Given the description of an element on the screen output the (x, y) to click on. 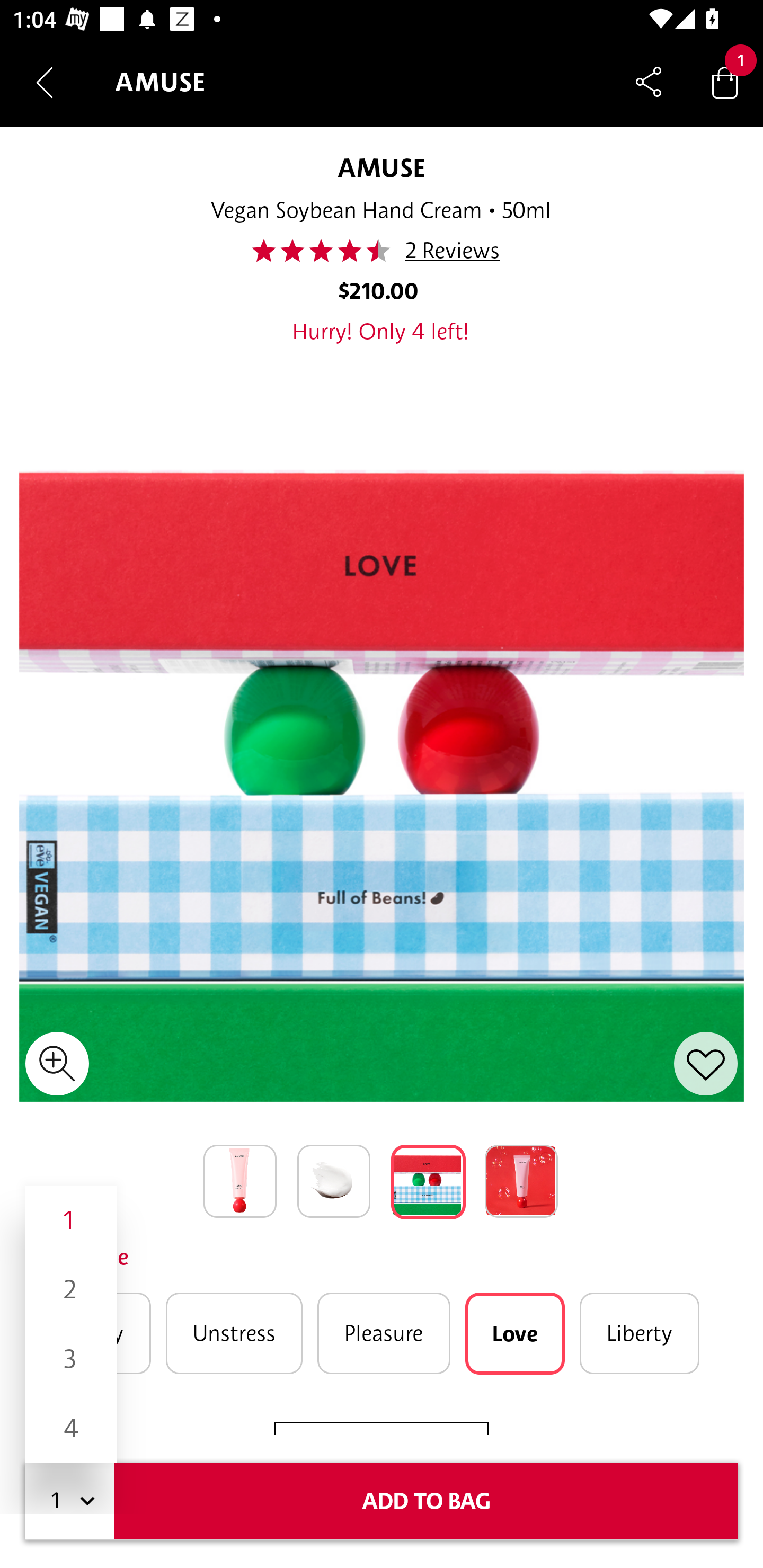
1 (70, 1219)
2 (70, 1289)
3 (70, 1358)
4 (70, 1427)
